Given the description of an element on the screen output the (x, y) to click on. 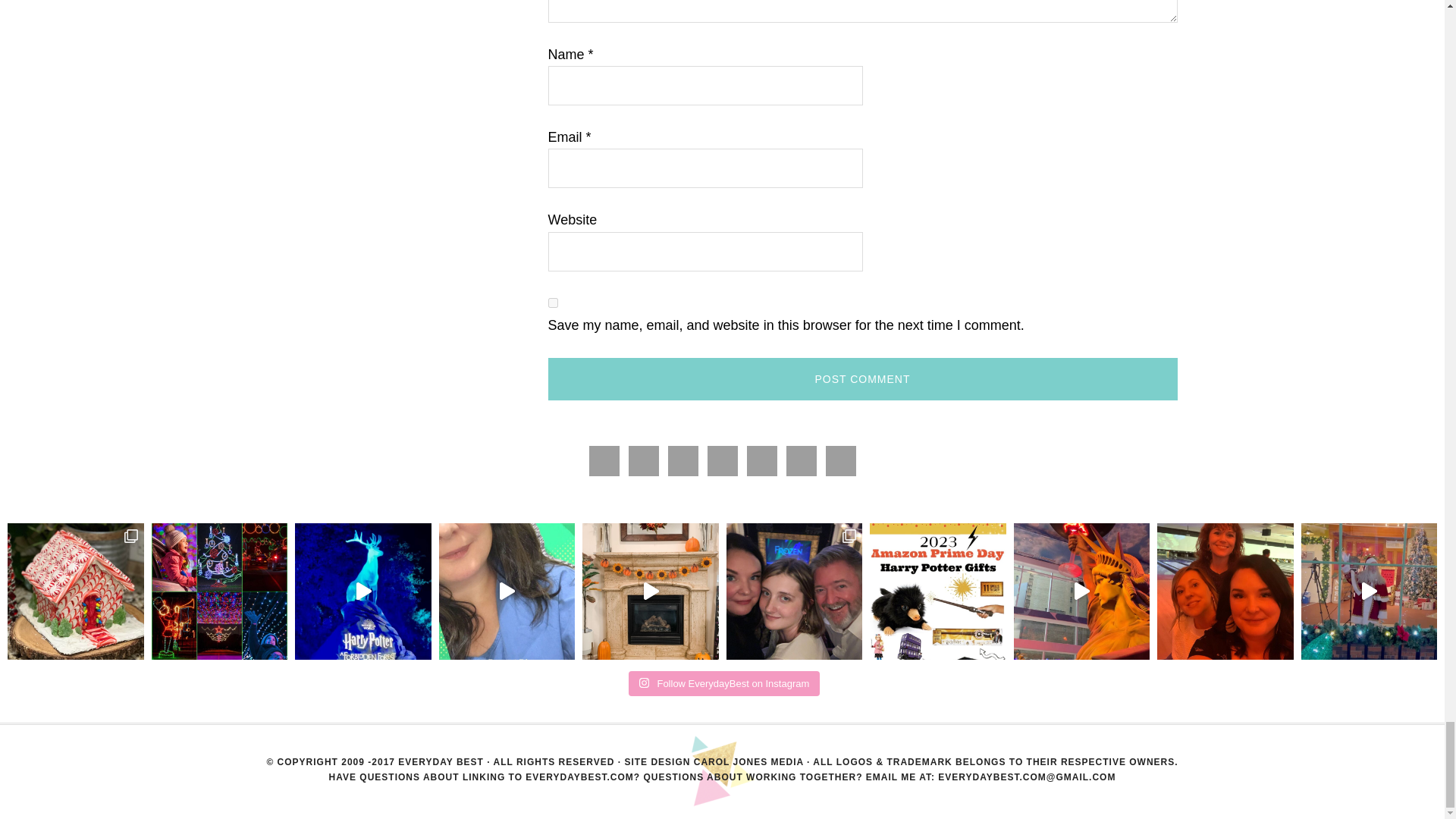
yes (552, 302)
Post Comment (861, 378)
